Given the description of an element on the screen output the (x, y) to click on. 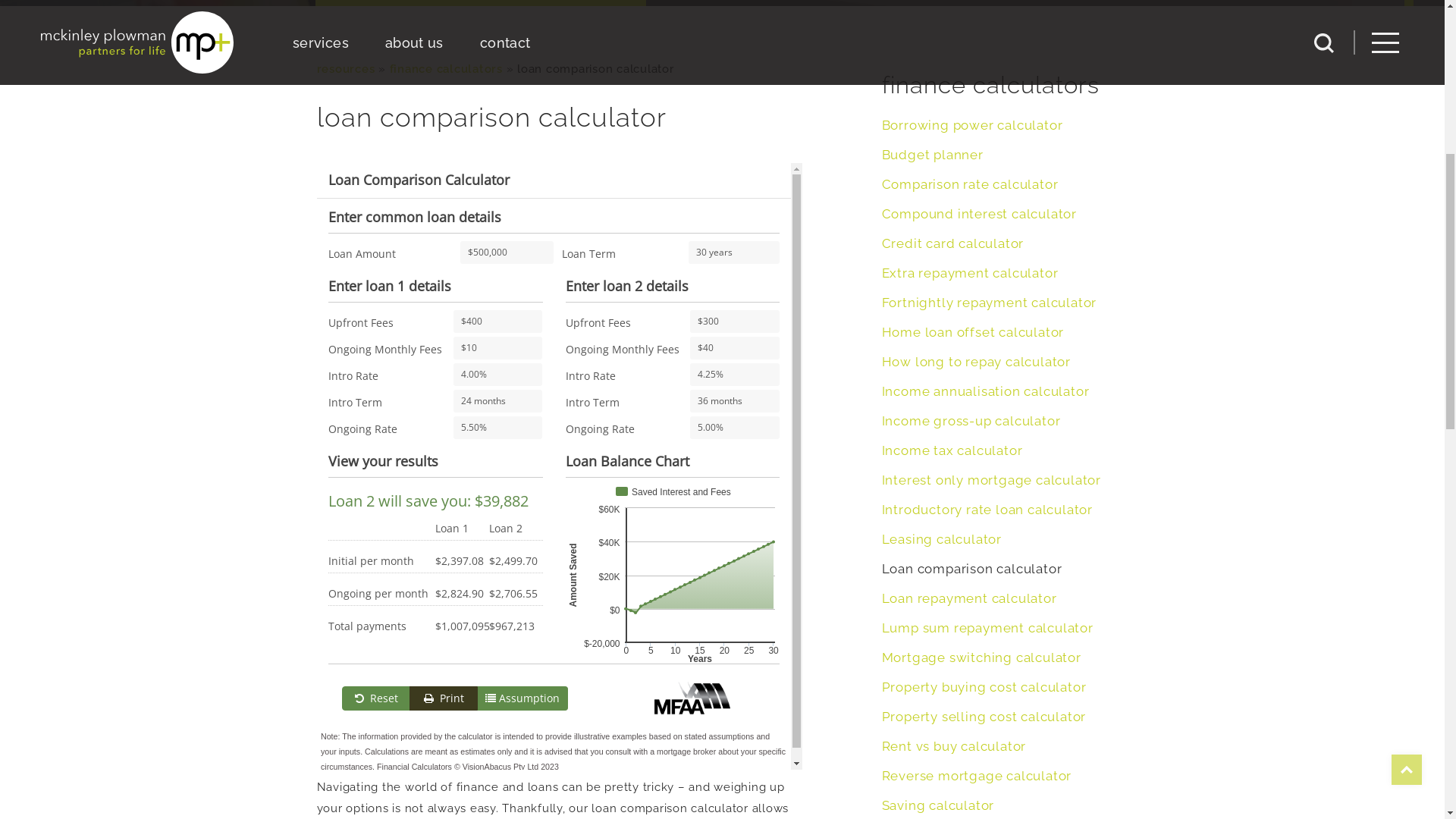
Credit card calculator Element type: text (952, 669)
Fortnightly repayment calculator Element type: text (988, 728)
resources Element type: text (345, 495)
about us Element type: text (414, 468)
contact Element type: text (505, 468)
primary-menu-mobile Element type: hover (1385, 468)
Compound interest calculator Element type: text (978, 639)
How long to repay calculator Element type: text (975, 787)
Extra repayment calculator Element type: text (969, 698)
Budget planner Element type: text (931, 580)
finance calculators Element type: text (445, 495)
services Element type: text (320, 468)
Comparison rate calculator Element type: text (969, 610)
Home loan offset calculator Element type: text (972, 757)
Borrowing power calculator Element type: text (971, 550)
